Given the description of an element on the screen output the (x, y) to click on. 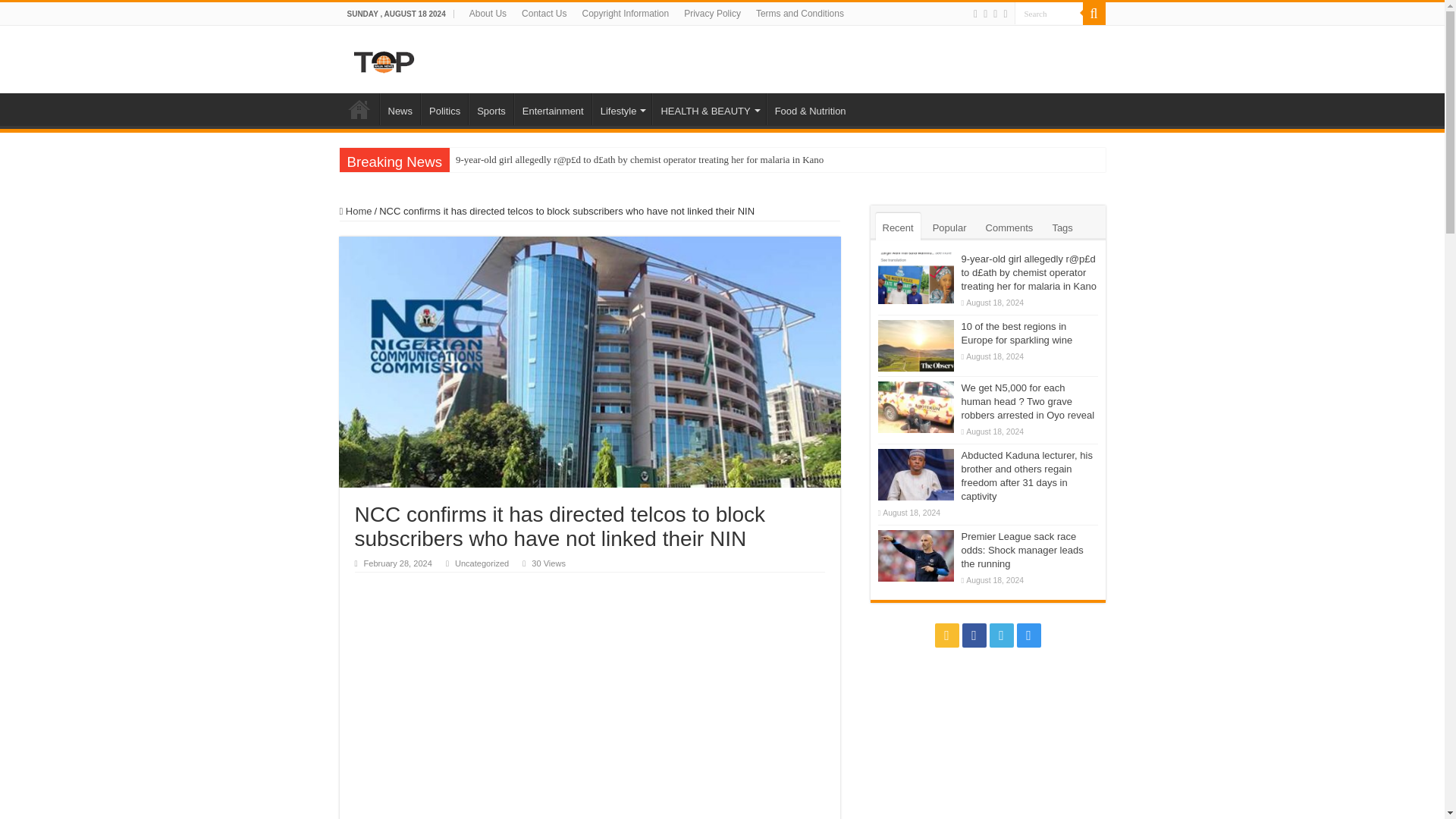
Search (1094, 13)
Terms and Conditions (799, 13)
Entertainment (552, 109)
Search (1048, 13)
Contact Us (543, 13)
Privacy Policy (712, 13)
Copyright Information (625, 13)
News (399, 109)
About Us (487, 13)
Home (358, 109)
